Given the description of an element on the screen output the (x, y) to click on. 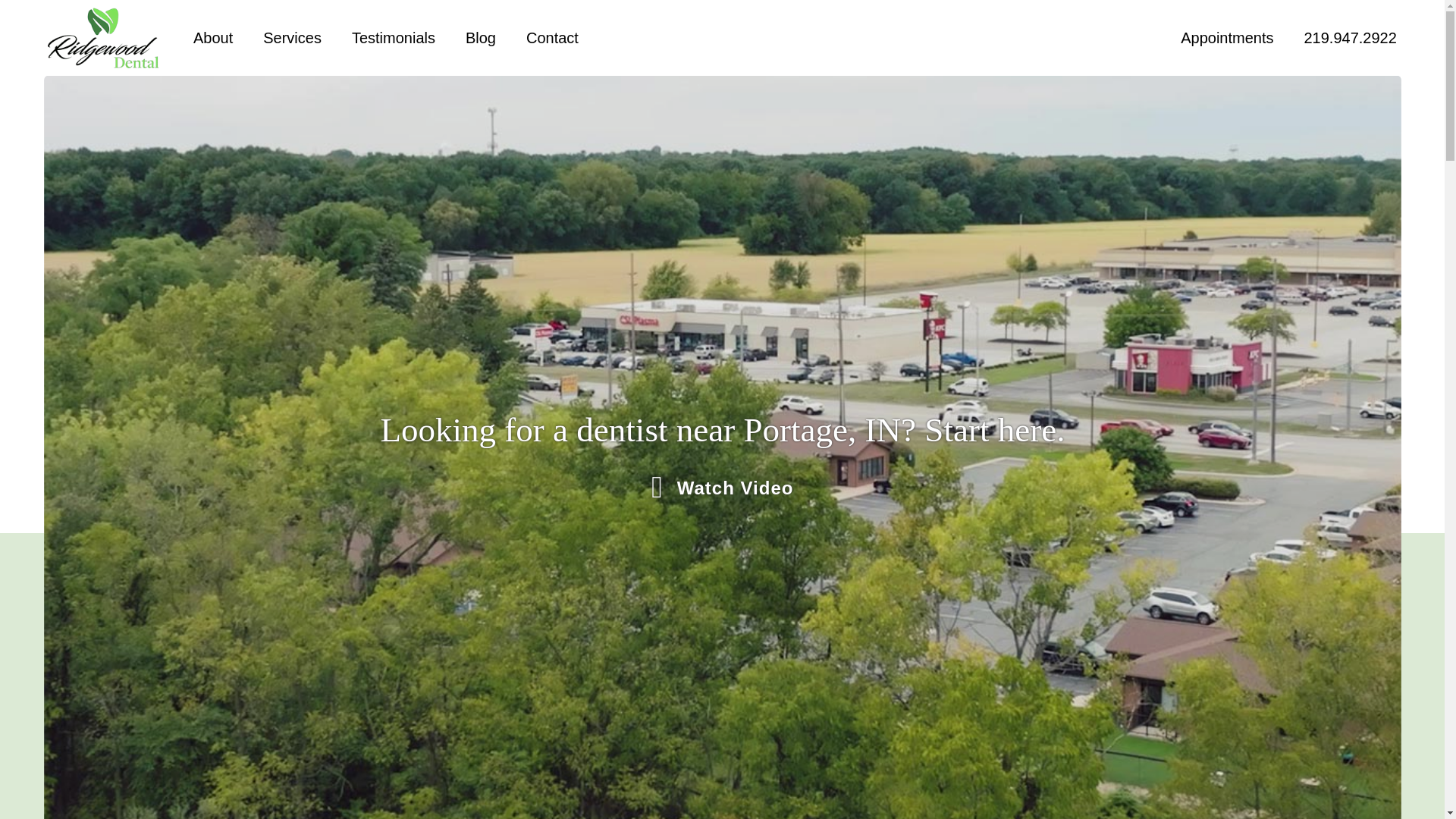
Services (292, 37)
219.947.2922 (1350, 37)
About (212, 37)
Contact (551, 37)
Watch Video (721, 478)
Blog (480, 37)
Appointments (1226, 37)
Testimonials (393, 37)
